Given the description of an element on the screen output the (x, y) to click on. 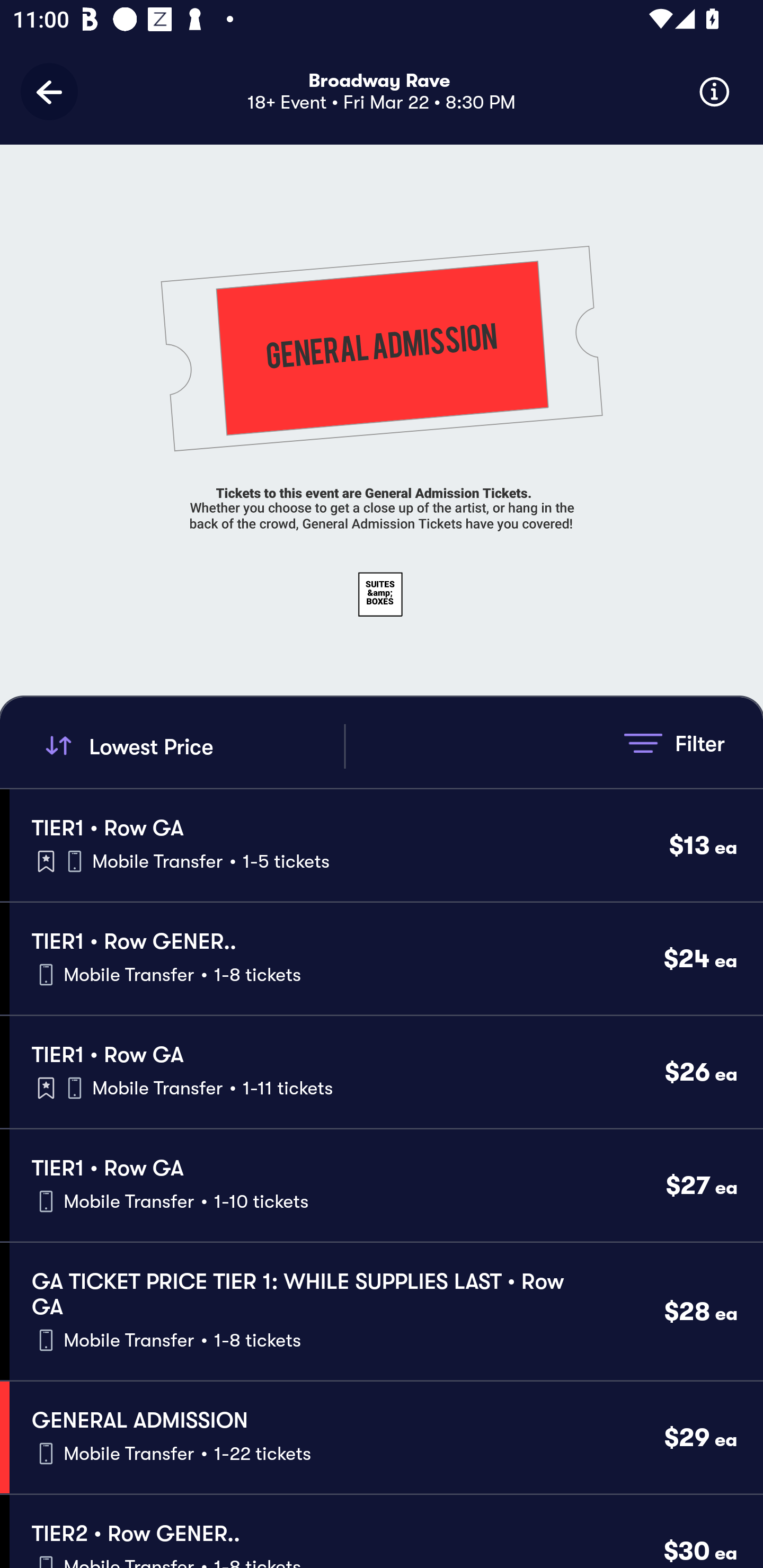
Lowest Price (191, 746)
Filter (674, 743)
